Given the description of an element on the screen output the (x, y) to click on. 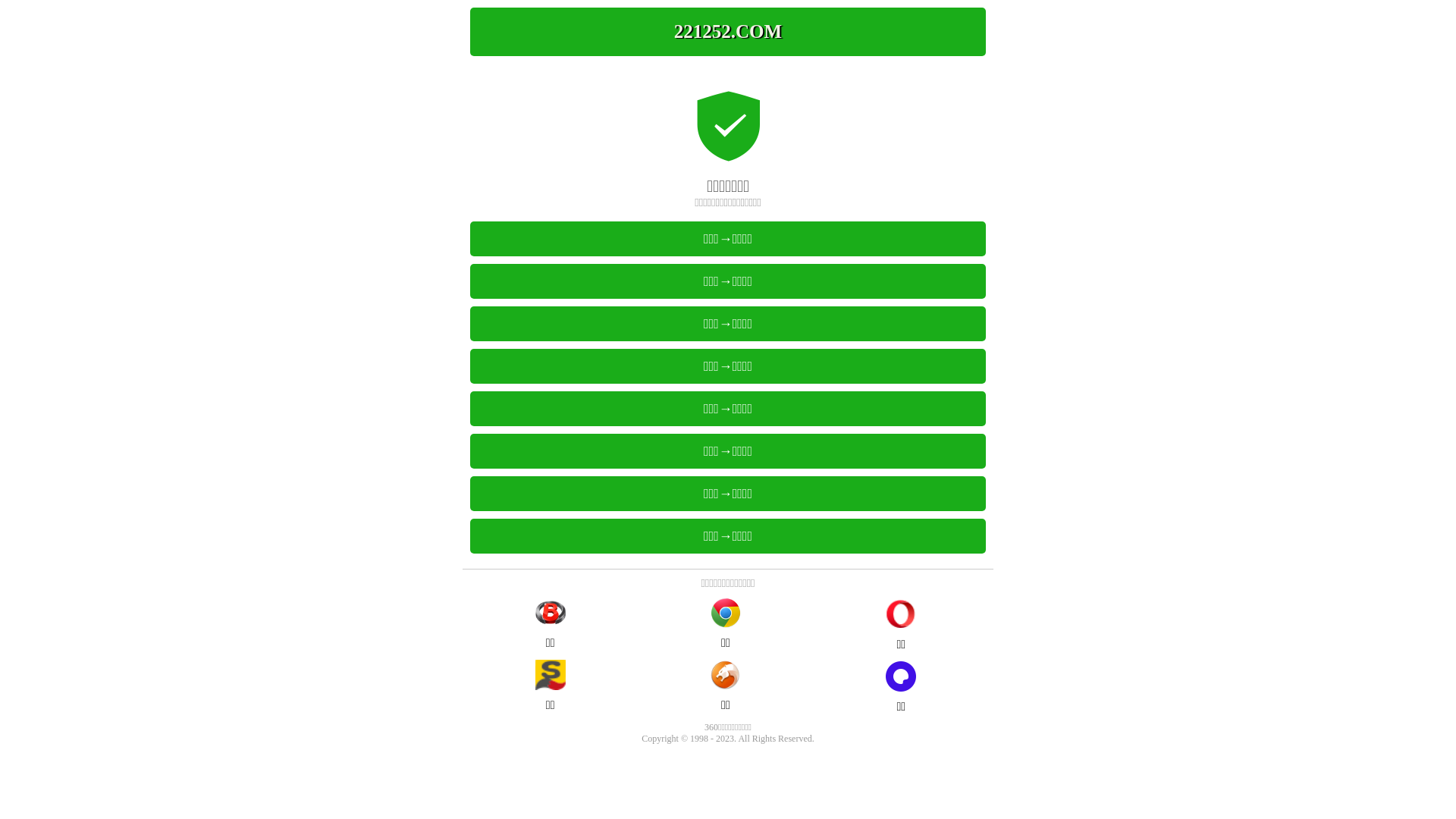
221252.COM Element type: text (727, 31)
